Given the description of an element on the screen output the (x, y) to click on. 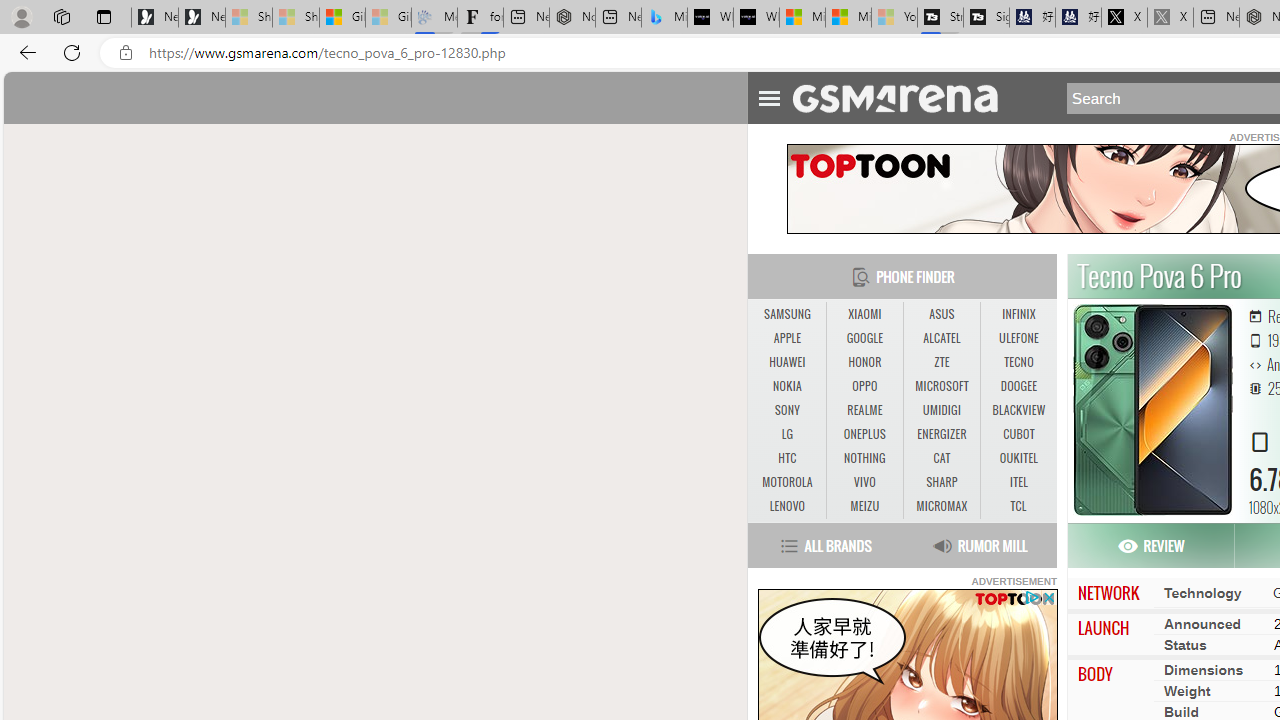
SHARP (941, 482)
ONEPLUS (863, 434)
ASUS (941, 314)
INFINIX (1018, 314)
SONY (786, 410)
GOOGLE (863, 338)
ZTE (941, 362)
ULEFONE (1018, 339)
Tecno Pova 6 Pro MORE PICTURES (1149, 410)
Build (1181, 711)
LG (786, 434)
AutomationID: anchor (904, 97)
